Given the description of an element on the screen output the (x, y) to click on. 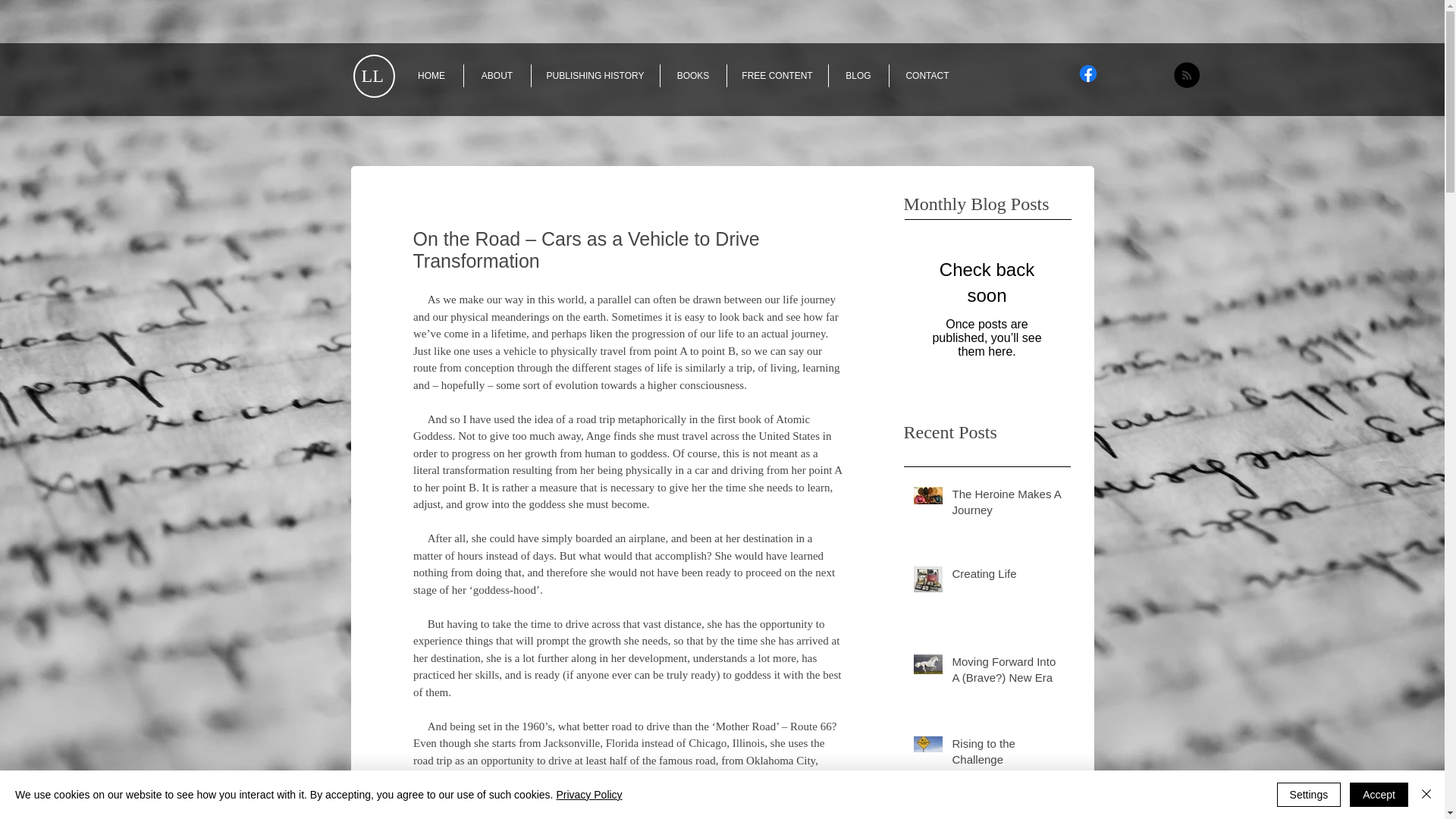
BLOG (858, 75)
Rising to the Challenge (1006, 754)
ABOUT (497, 75)
FREE CONTENT (776, 75)
The Heroine Makes A Journey (1006, 505)
PUBLISHING HISTORY (595, 75)
Creating Life (1006, 576)
HOME (431, 75)
  LL (367, 75)
CONTACT (926, 75)
BOOKS (692, 75)
RSS Feed (1186, 74)
